Given the description of an element on the screen output the (x, y) to click on. 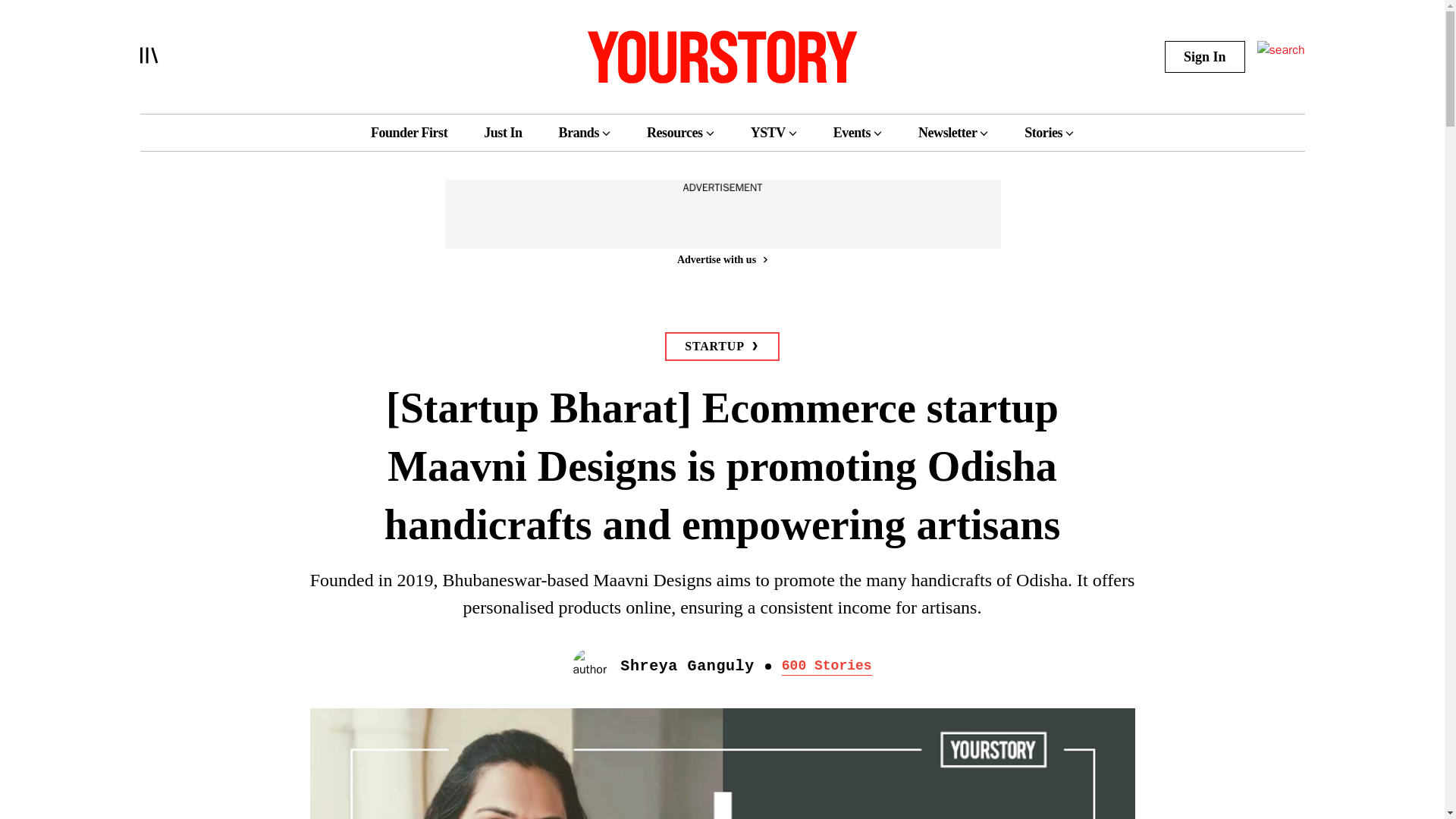
Just In (502, 132)
Advertise with us (721, 259)
600 Stories (826, 665)
Shreya Ganguly (687, 665)
STARTUP (721, 346)
Founder First (408, 132)
